Given the description of an element on the screen output the (x, y) to click on. 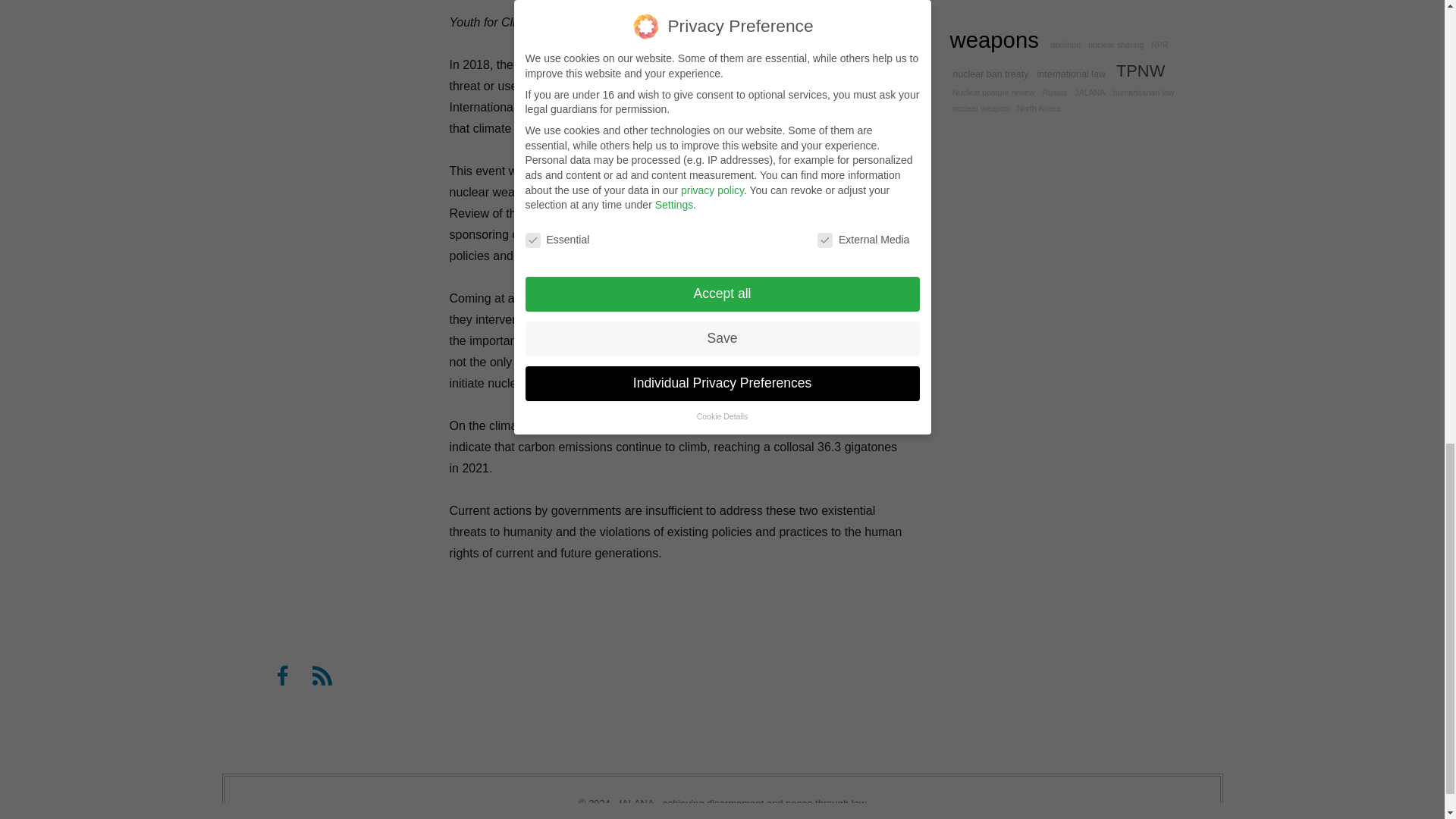
9 topics (988, 7)
3 topics (1159, 43)
5 topics (1115, 43)
26 topics (1042, 27)
5 topics (1041, 8)
5 topics (1065, 43)
